Given the description of an element on the screen output the (x, y) to click on. 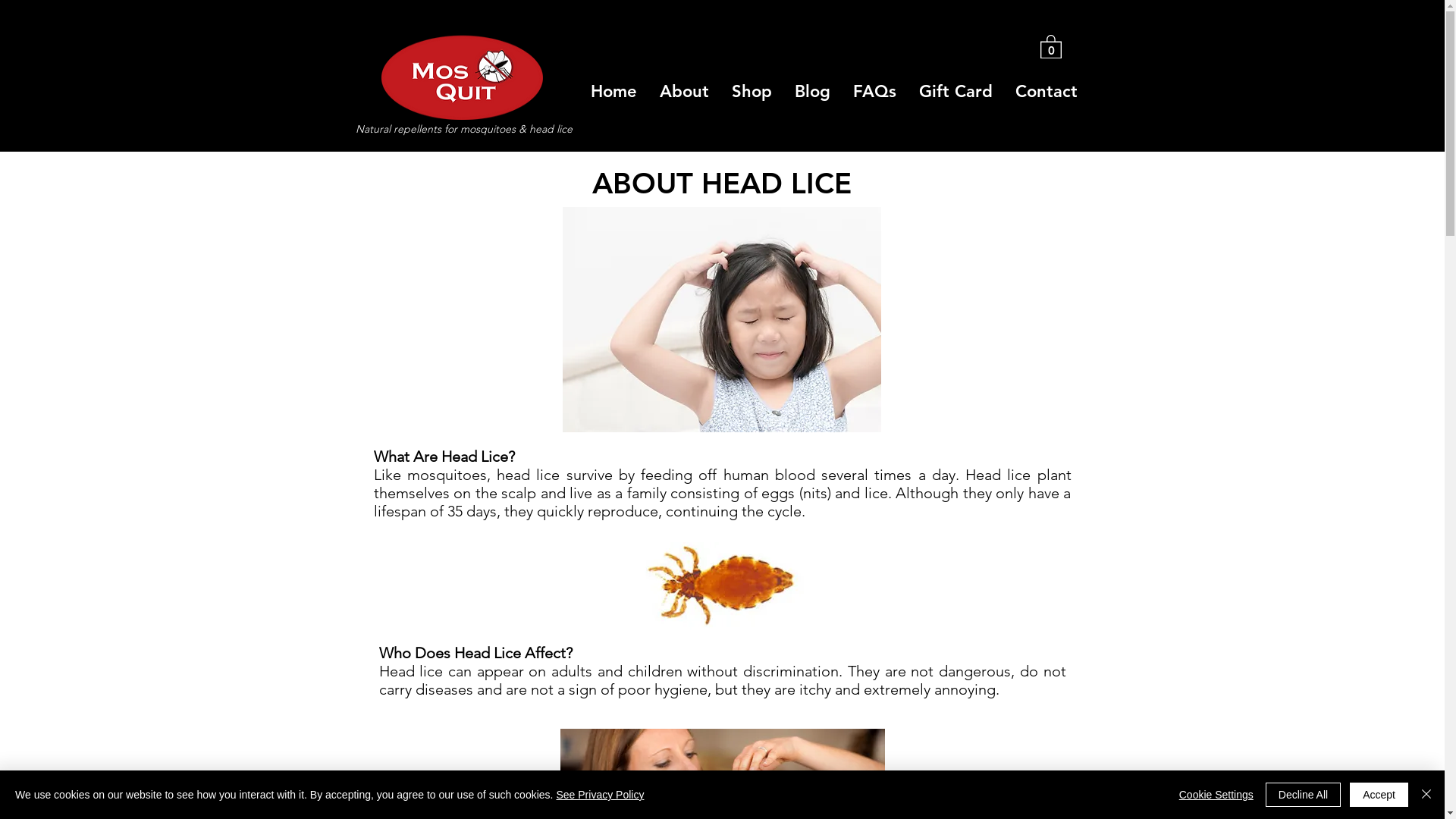
Gift Card Element type: text (954, 91)
See Privacy Policy Element type: text (599, 794)
Accept Element type: text (1378, 794)
0 Element type: text (1050, 45)
Home Element type: text (613, 91)
About Element type: text (683, 91)
Contact Element type: text (1046, 91)
Blog Element type: text (811, 91)
FAQs Element type: text (874, 91)
Shop Element type: text (751, 91)
Decline All Element type: text (1302, 794)
